Given the description of an element on the screen output the (x, y) to click on. 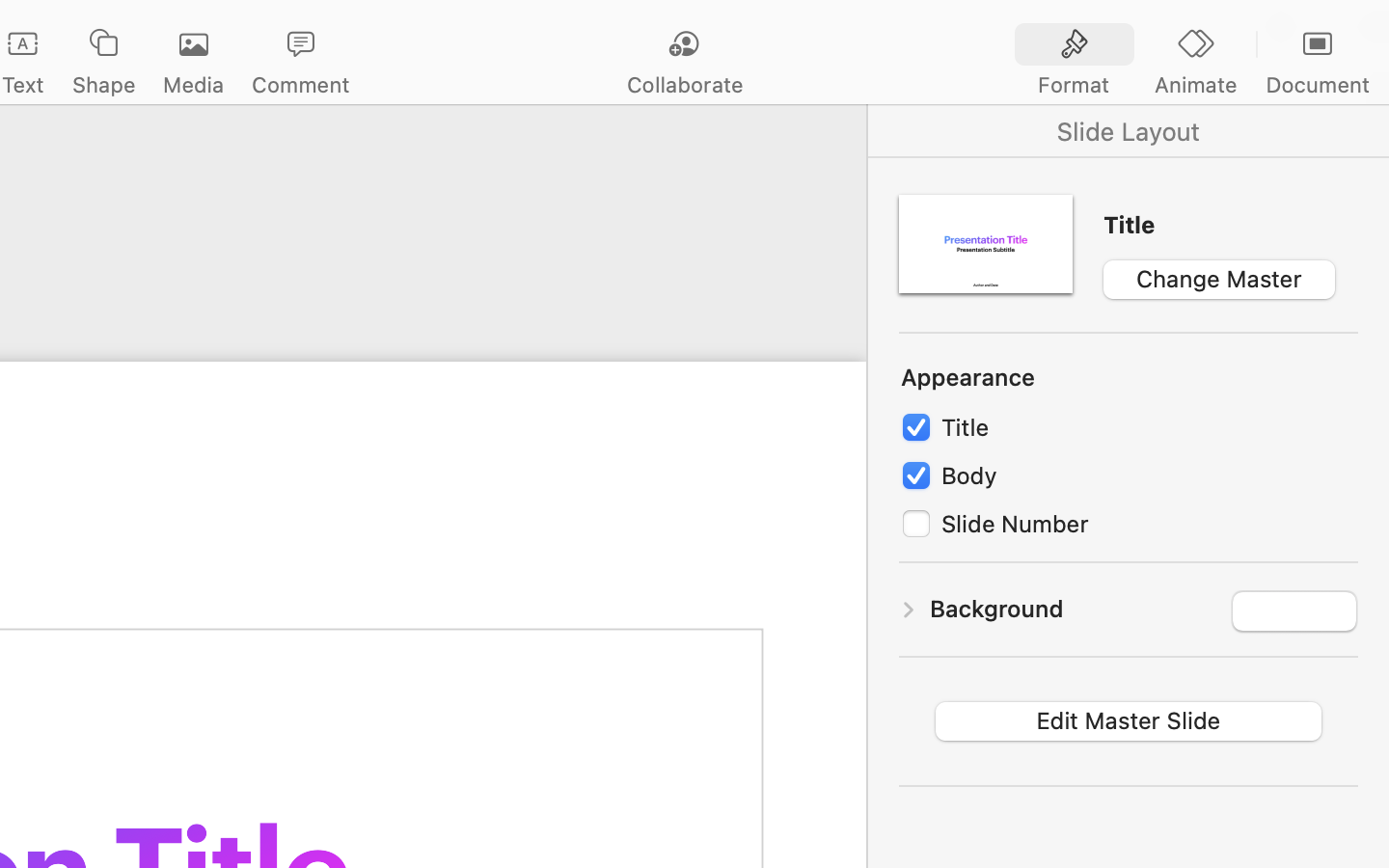
Format Element type: AXStaticText (1073, 84)
Media Element type: AXStaticText (192, 84)
Document Element type: AXStaticText (1316, 84)
Title Element type: AXStaticText (1230, 224)
<AXUIElement 0x287771f70> {pid=1697} Element type: AXGroup (1195, 45)
